Given the description of an element on the screen output the (x, y) to click on. 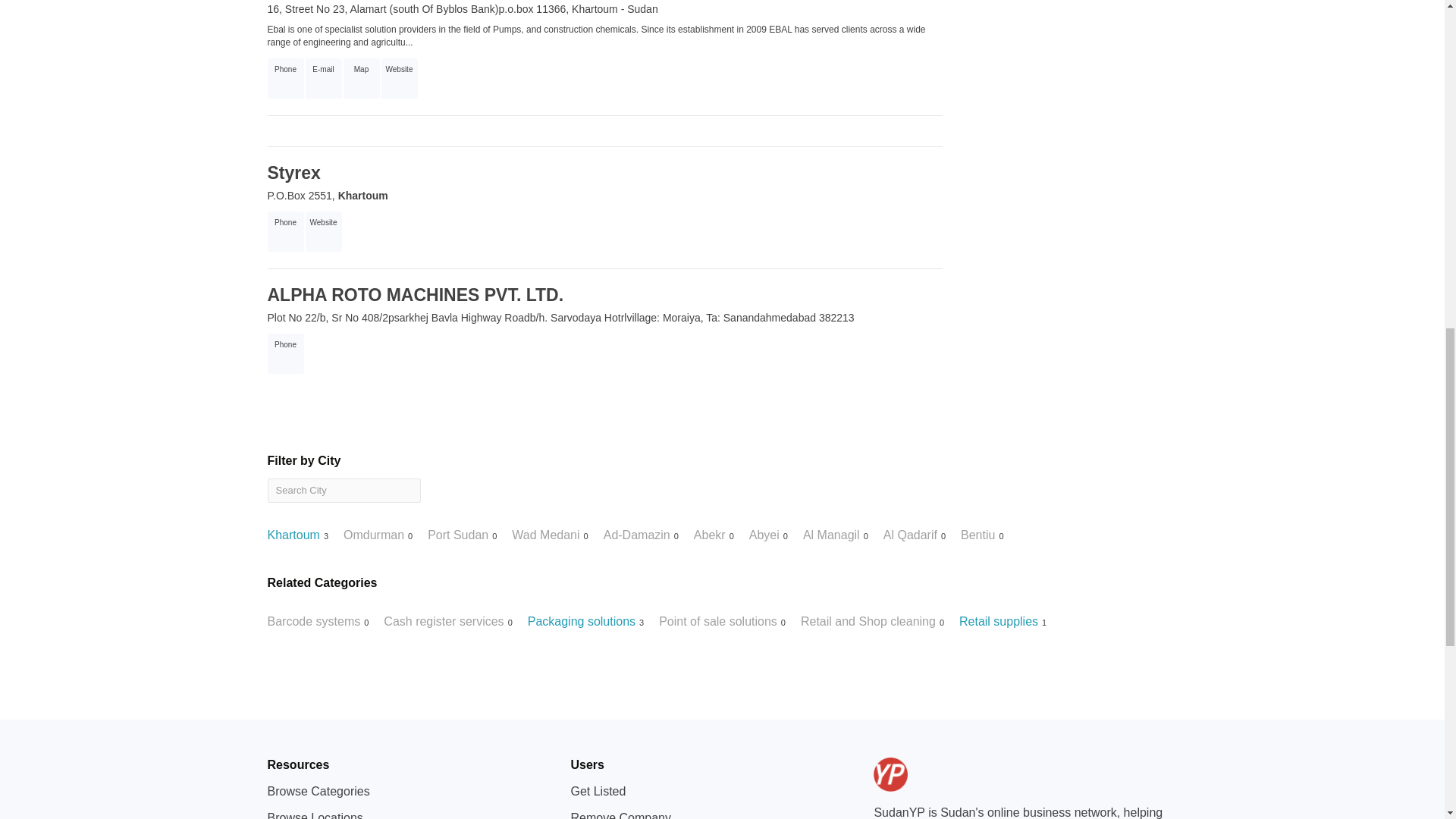
Khartoum (362, 195)
Styrex (293, 172)
Styrex (293, 172)
